Given the description of an element on the screen output the (x, y) to click on. 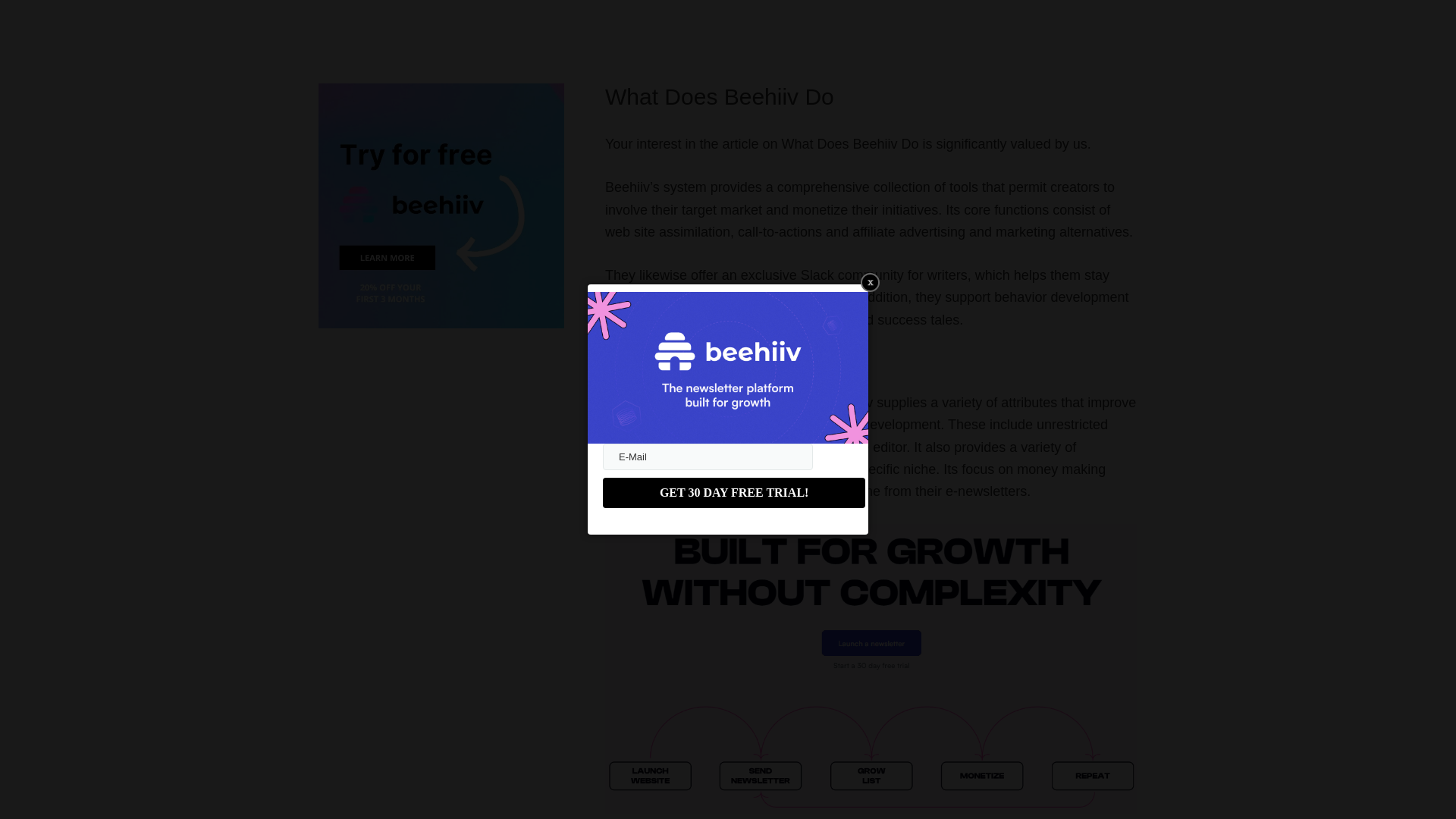
GET 30 DAY FREE TRIAL! (733, 492)
GET 30 DAY FREE TRIAL! (733, 492)
